Given the description of an element on the screen output the (x, y) to click on. 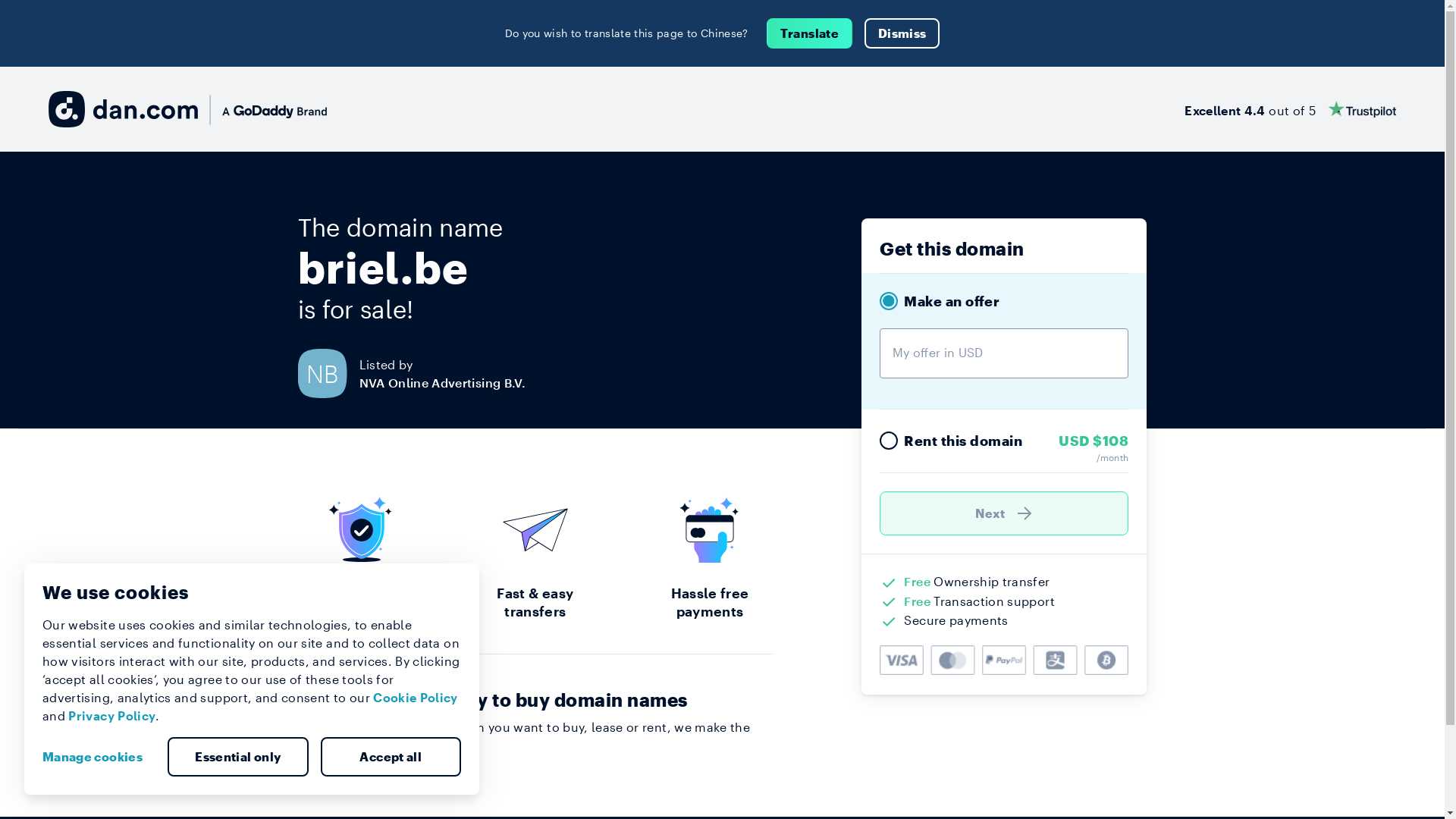
Dismiss Element type: text (901, 33)
Privacy Policy Element type: text (111, 715)
Translate Element type: text (809, 33)
Manage cookies Element type: text (98, 756)
Cookie Policy Element type: text (415, 697)
Next
) Element type: text (1003, 513)
Excellent 4.4 out of 5 Element type: text (1290, 109)
Essential only Element type: text (237, 756)
Accept all Element type: text (390, 756)
